Given the description of an element on the screen output the (x, y) to click on. 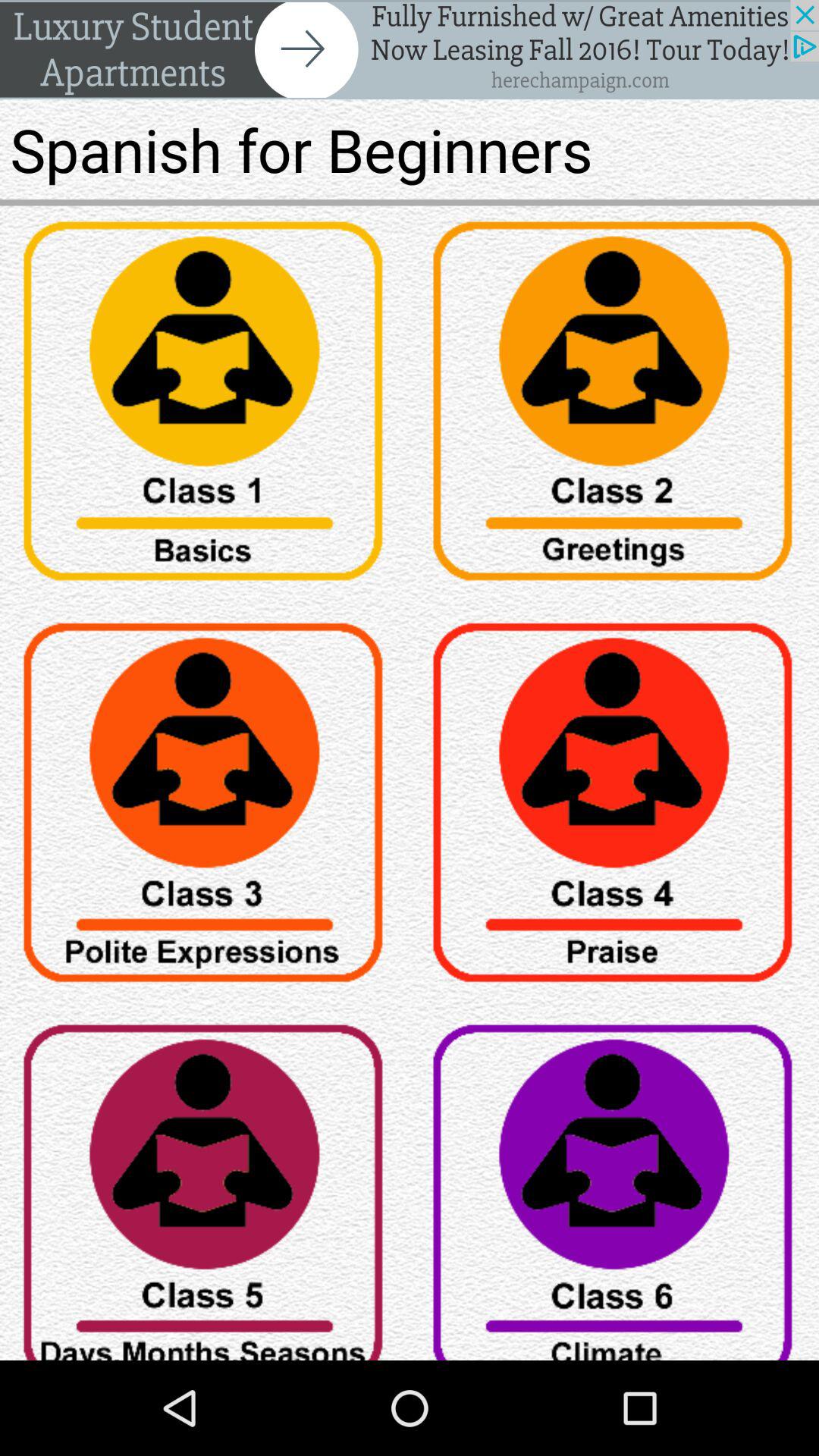
tag (614, 807)
